Given the description of an element on the screen output the (x, y) to click on. 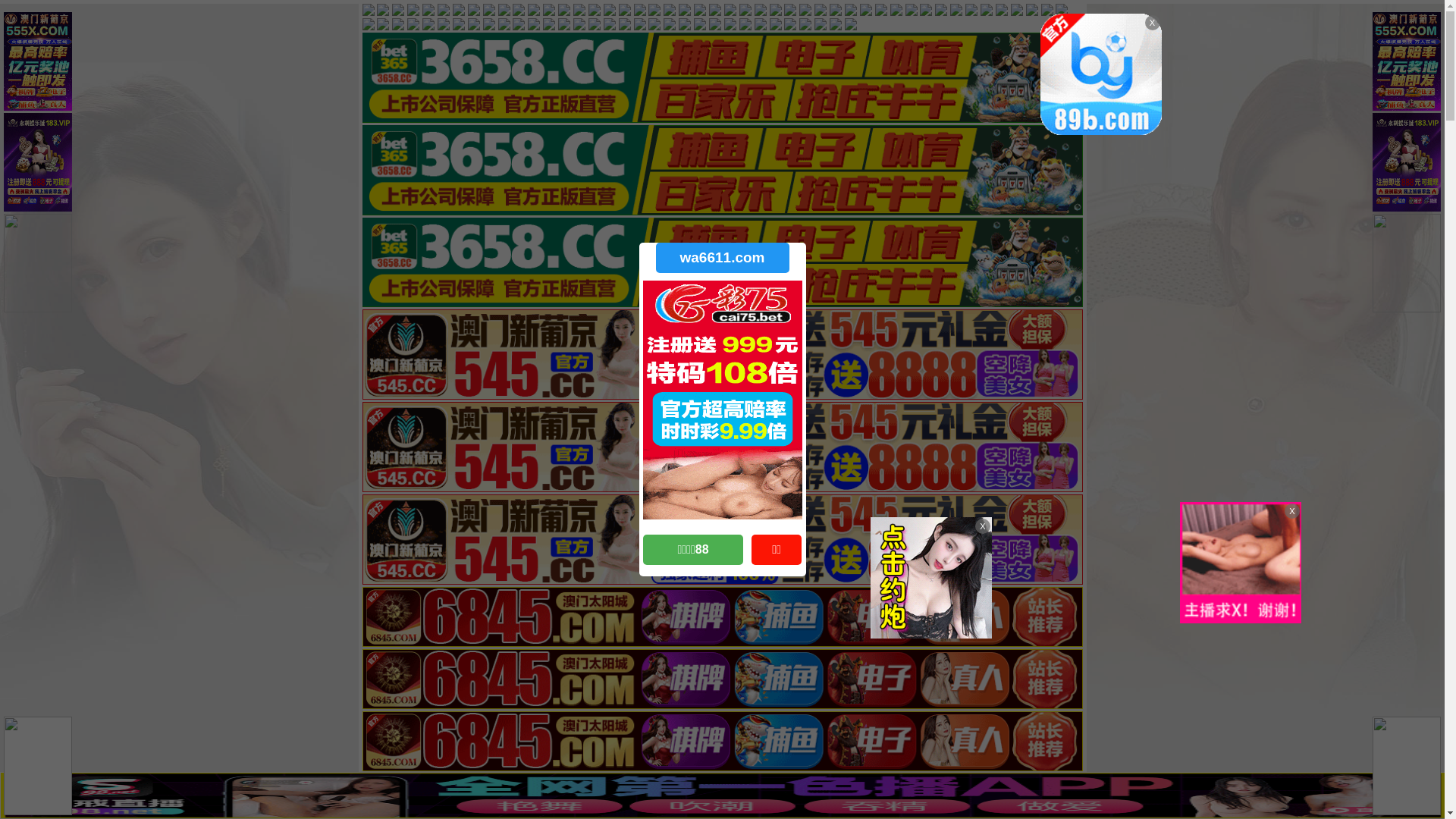
wa6611.com Element type: text (721, 257)
X Element type: text (1430, 789)
